Given the description of an element on the screen output the (x, y) to click on. 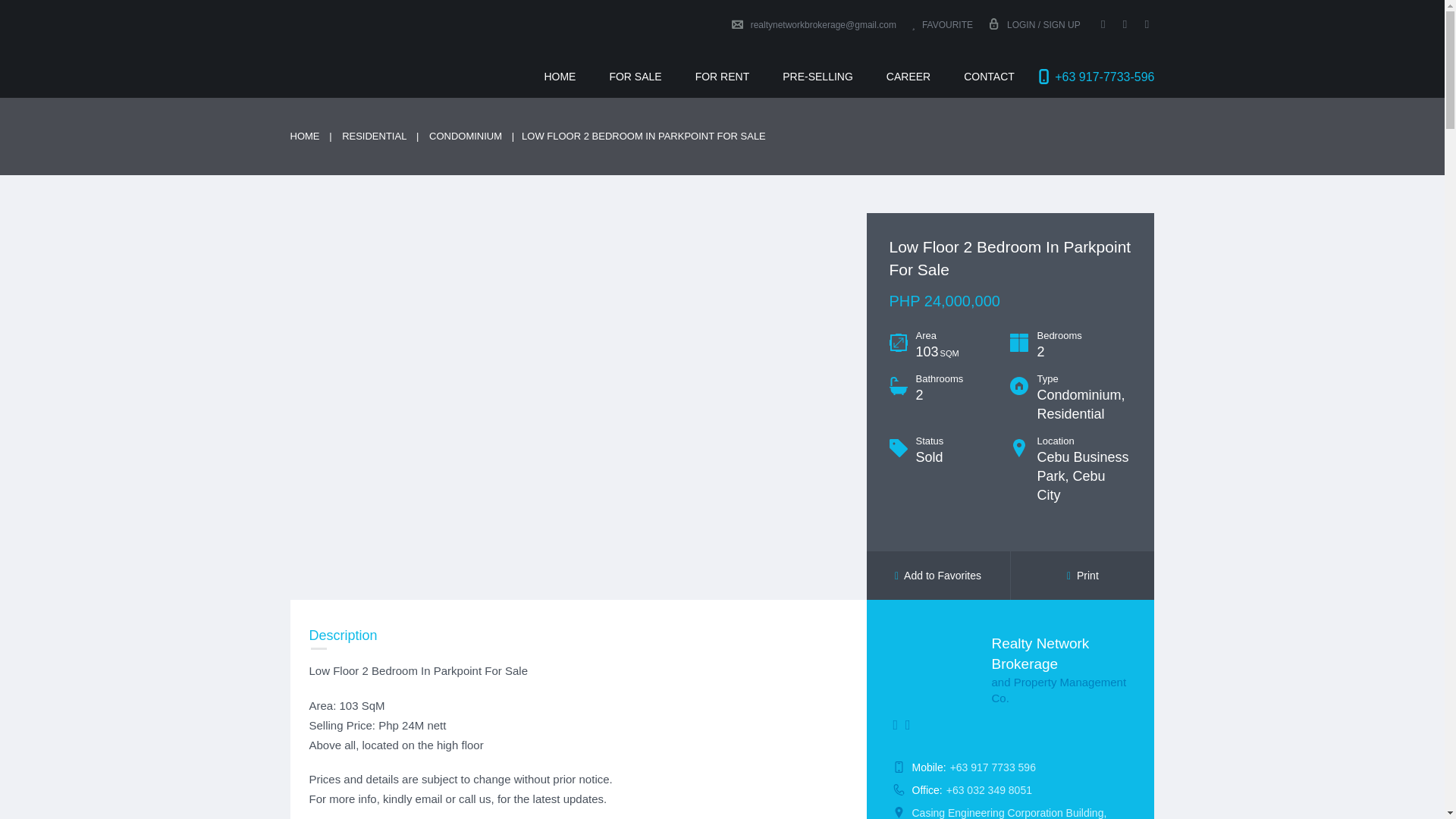
Make a Call (989, 789)
HOME (559, 76)
RESIDENTIAL (374, 135)
FOR SALE (635, 76)
PRE-SELLING (817, 76)
FAVOURITE (941, 24)
FOR RENT (722, 76)
Make a Call (992, 767)
CONDOMINIUM (465, 135)
CAREER (908, 76)
